Given the description of an element on the screen output the (x, y) to click on. 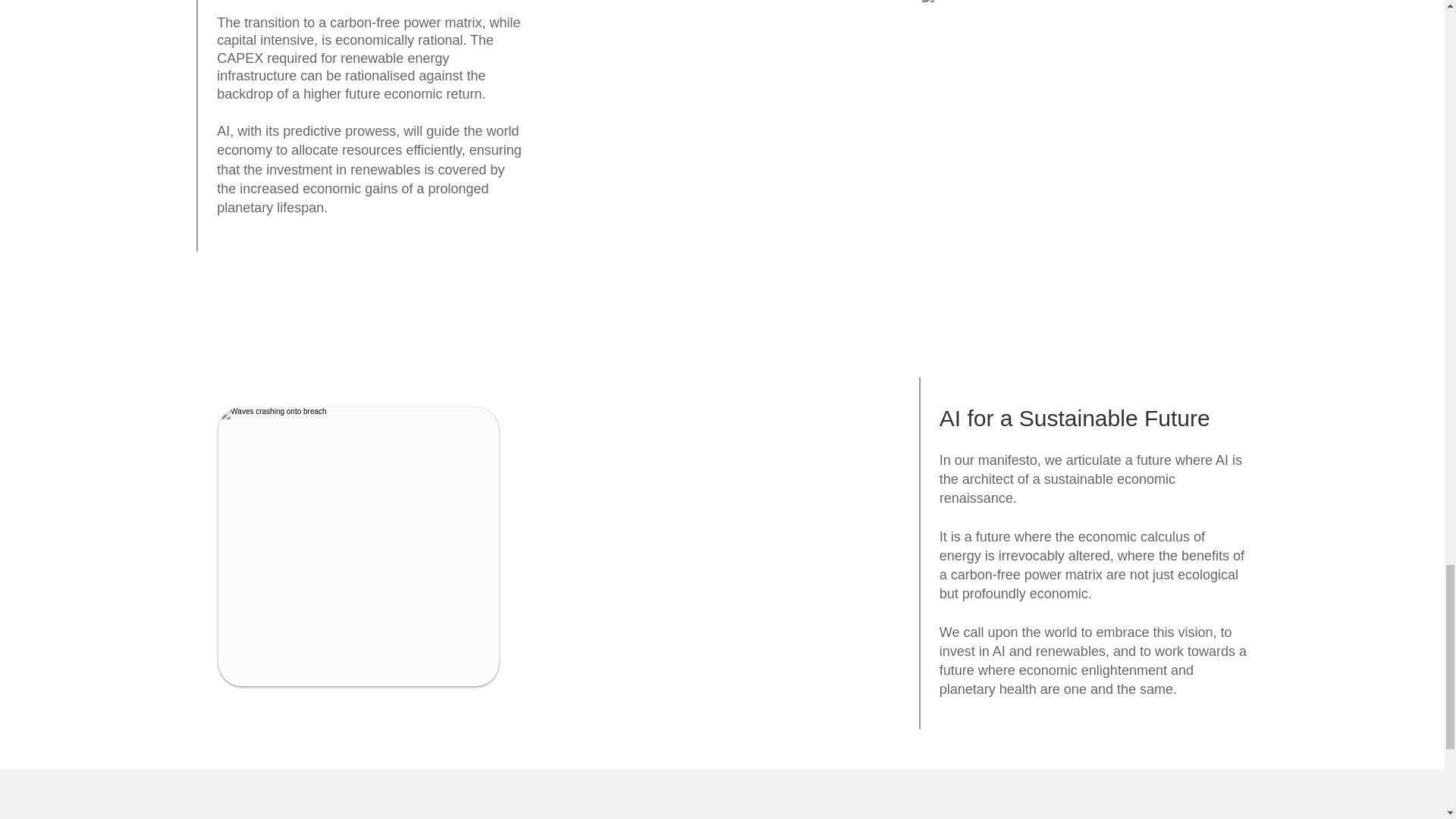
picture.png (1082, 95)
